Given the description of an element on the screen output the (x, y) to click on. 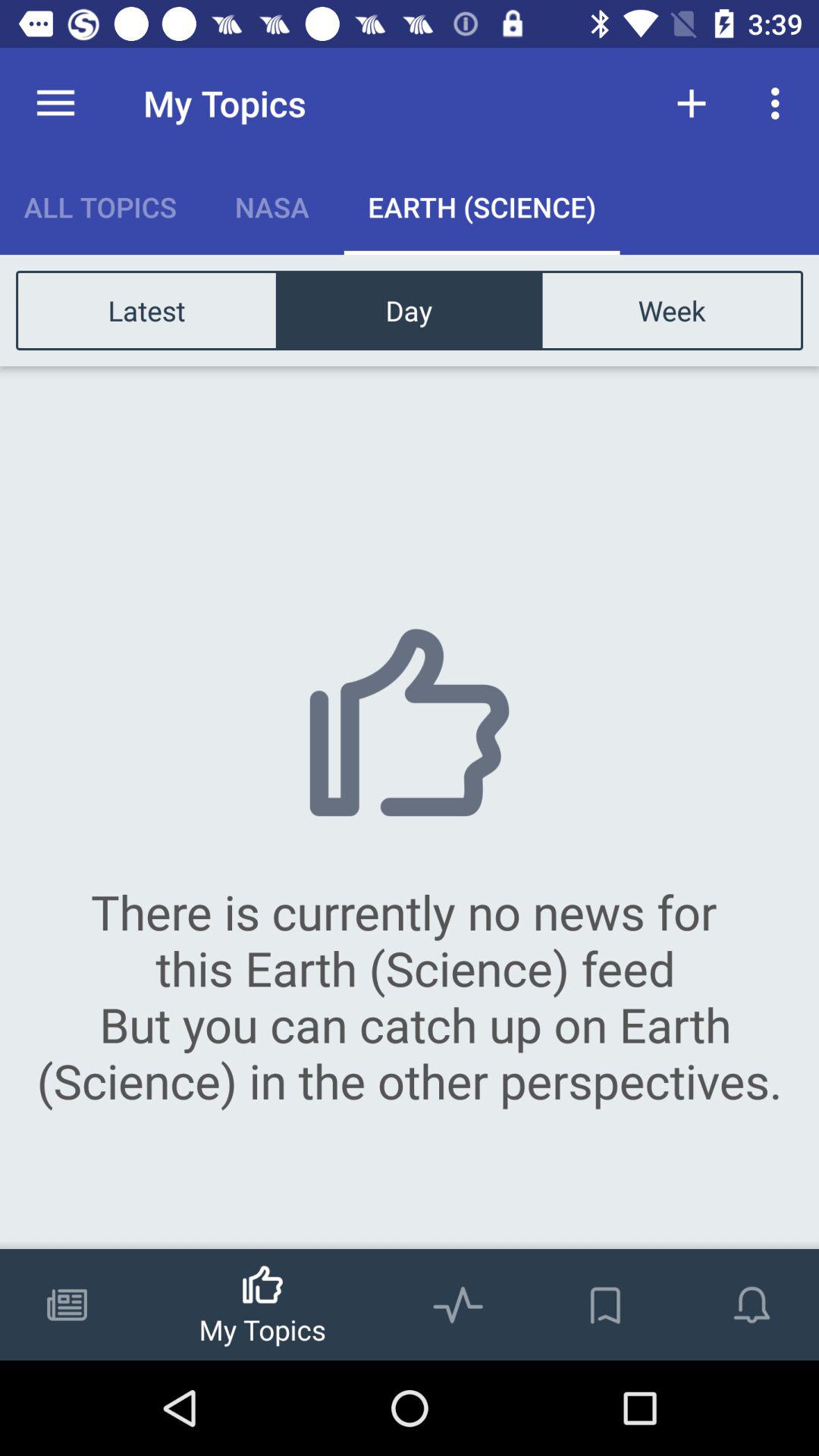
open icon next to latest item (409, 310)
